Given the description of an element on the screen output the (x, y) to click on. 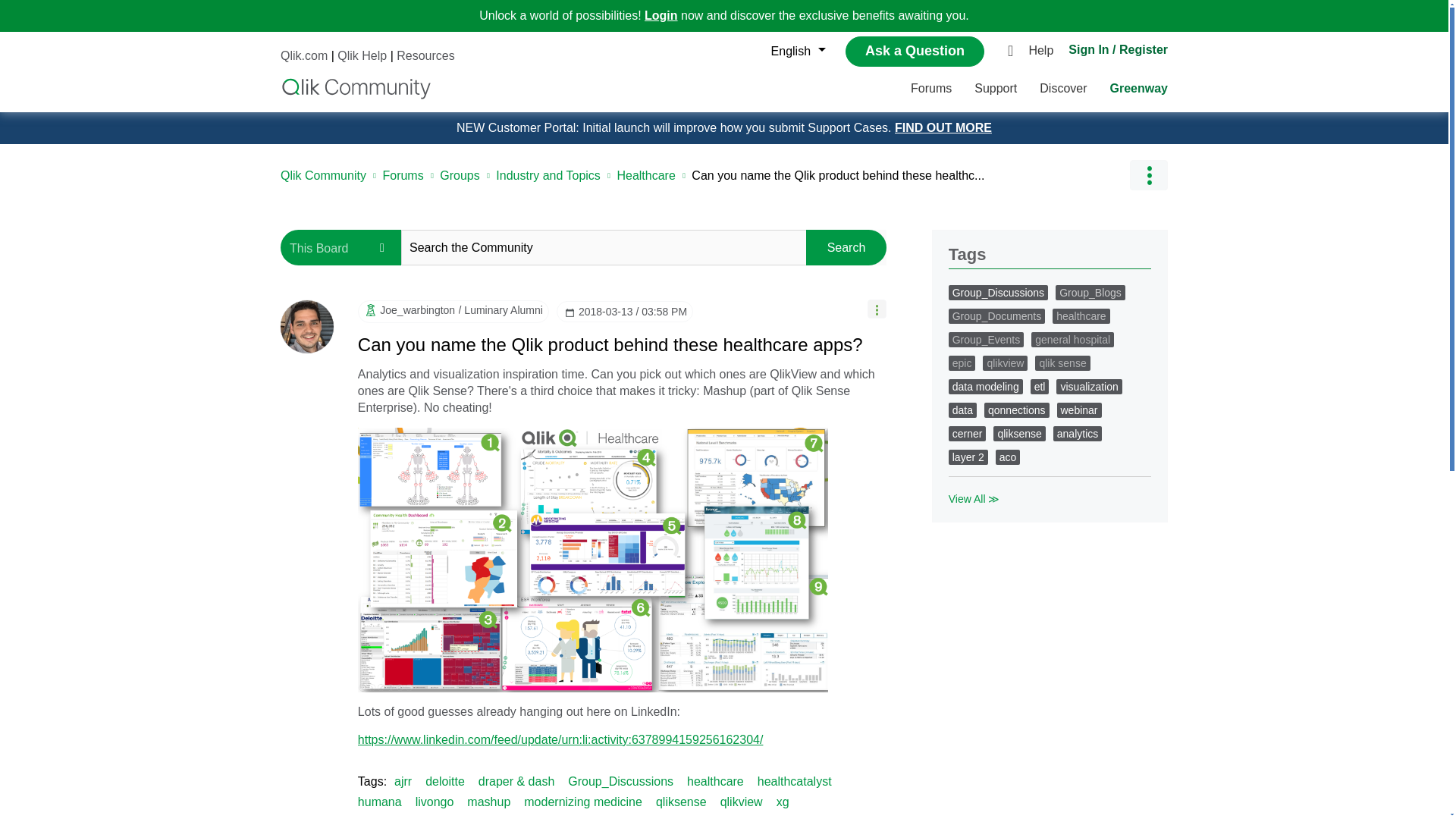
Resources (425, 55)
English (793, 51)
Search (846, 247)
Qlik Help (362, 55)
Search (846, 247)
Qlik.com (304, 55)
Qlik (356, 88)
Login (661, 15)
Help (1044, 51)
Ask a Question (914, 51)
